Given the description of an element on the screen output the (x, y) to click on. 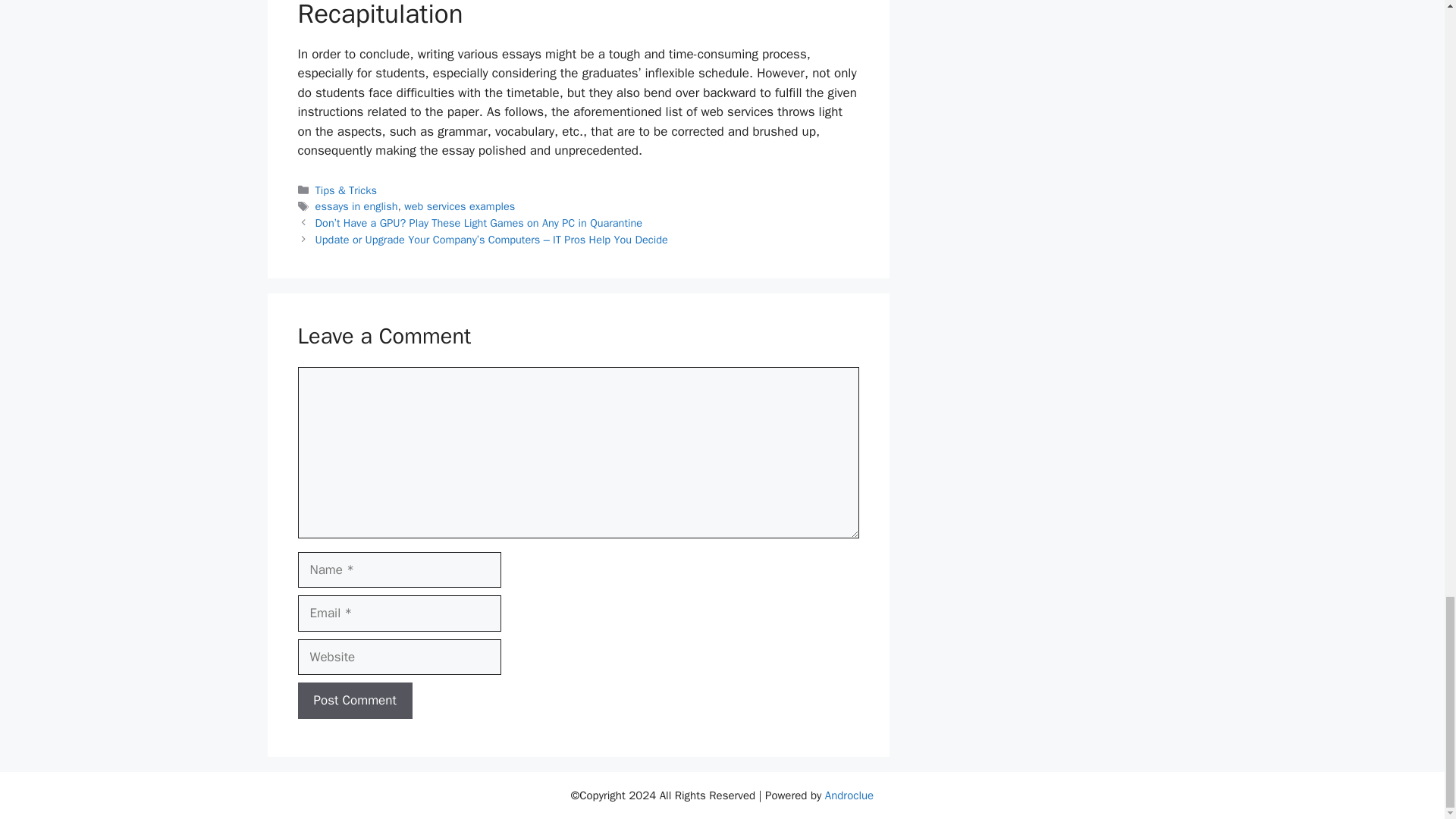
Post Comment (354, 700)
web services examples (459, 205)
essays in english (356, 205)
Post Comment (354, 700)
